Given the description of an element on the screen output the (x, y) to click on. 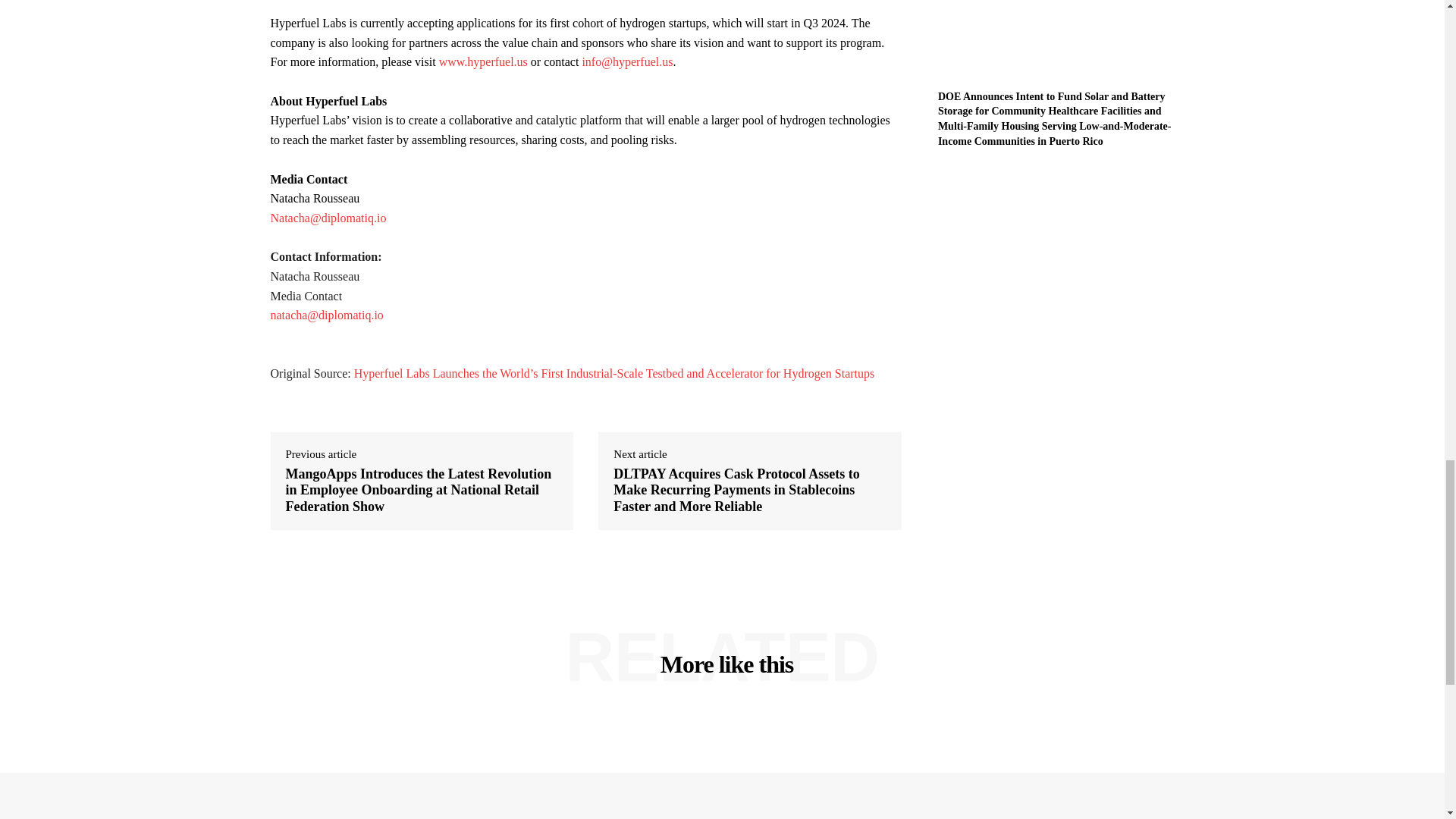
www.hyperfuel.us (483, 61)
